Given the description of an element on the screen output the (x, y) to click on. 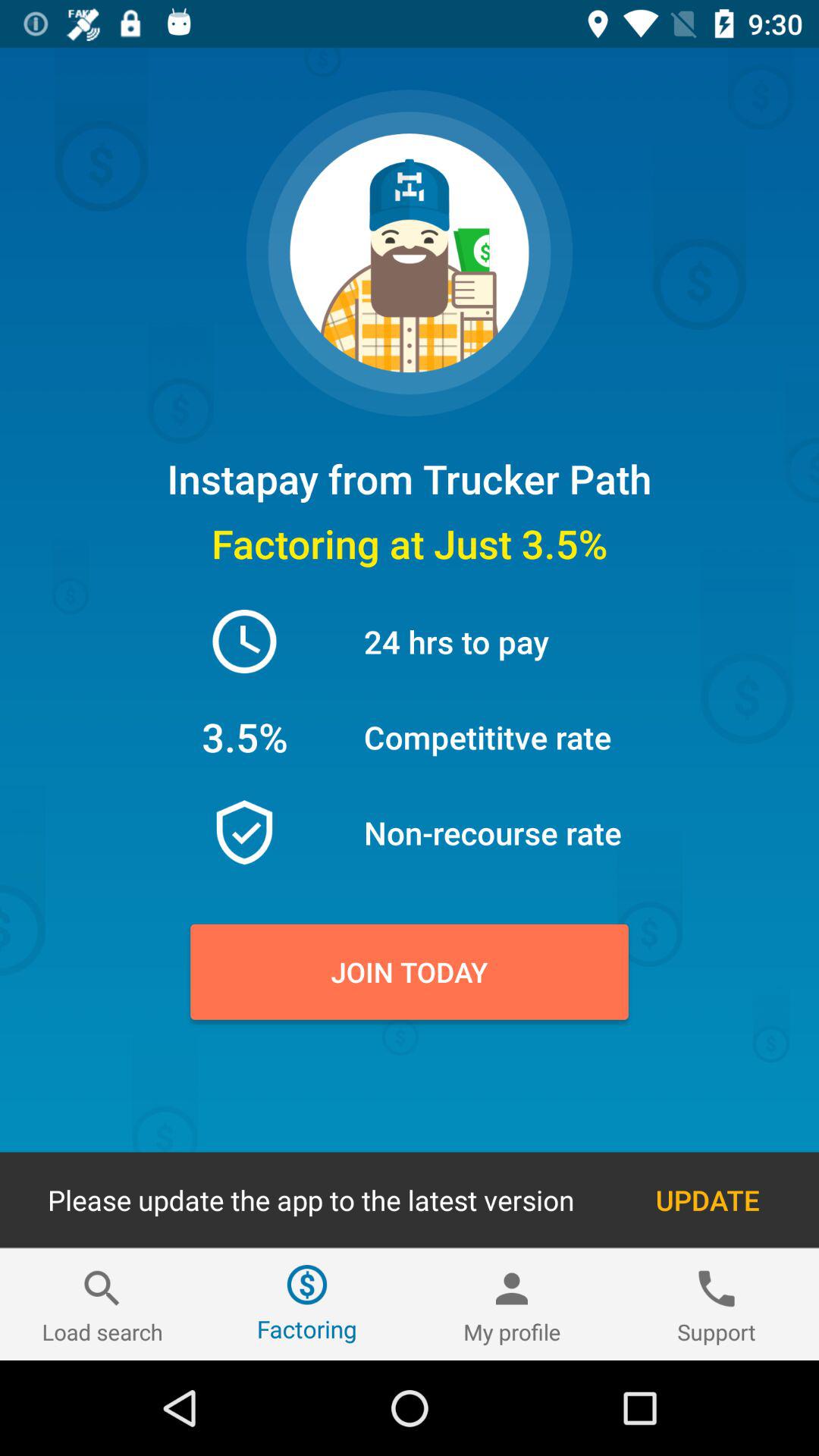
launch icon below non-recourse rate icon (409, 971)
